Given the description of an element on the screen output the (x, y) to click on. 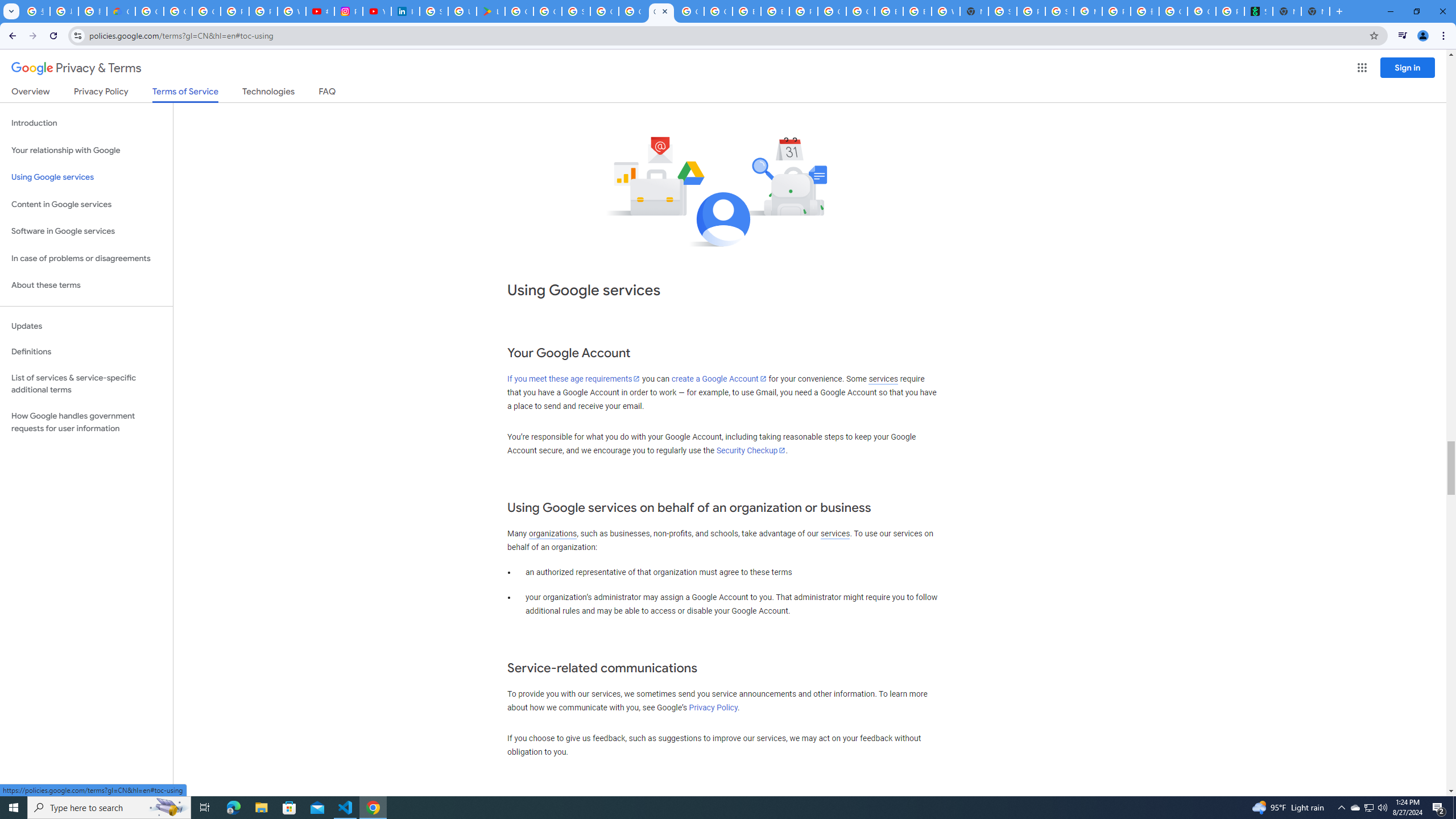
Google Cloud Platform (831, 11)
Google Cloud Platform (604, 11)
Google Cloud Platform (860, 11)
Sign in - Google Accounts (575, 11)
Using Google services (86, 176)
Privacy Help Center - Policies Help (263, 11)
